Given the description of an element on the screen output the (x, y) to click on. 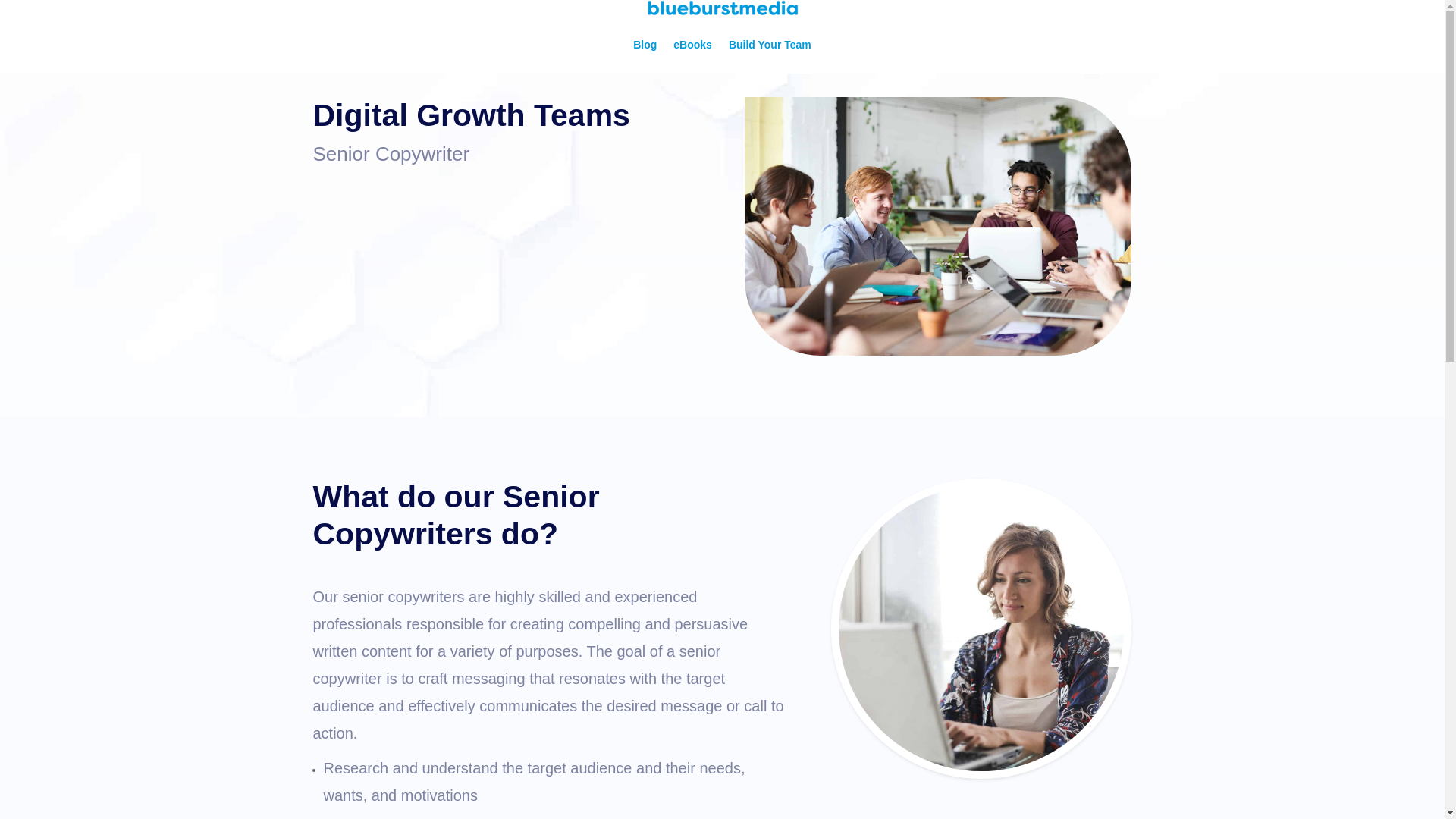
pexels-andrea-piacquadio-806835 (981, 628)
pexels-fauxels-3182759 (937, 225)
Build Your Team (769, 44)
